Given the description of an element on the screen output the (x, y) to click on. 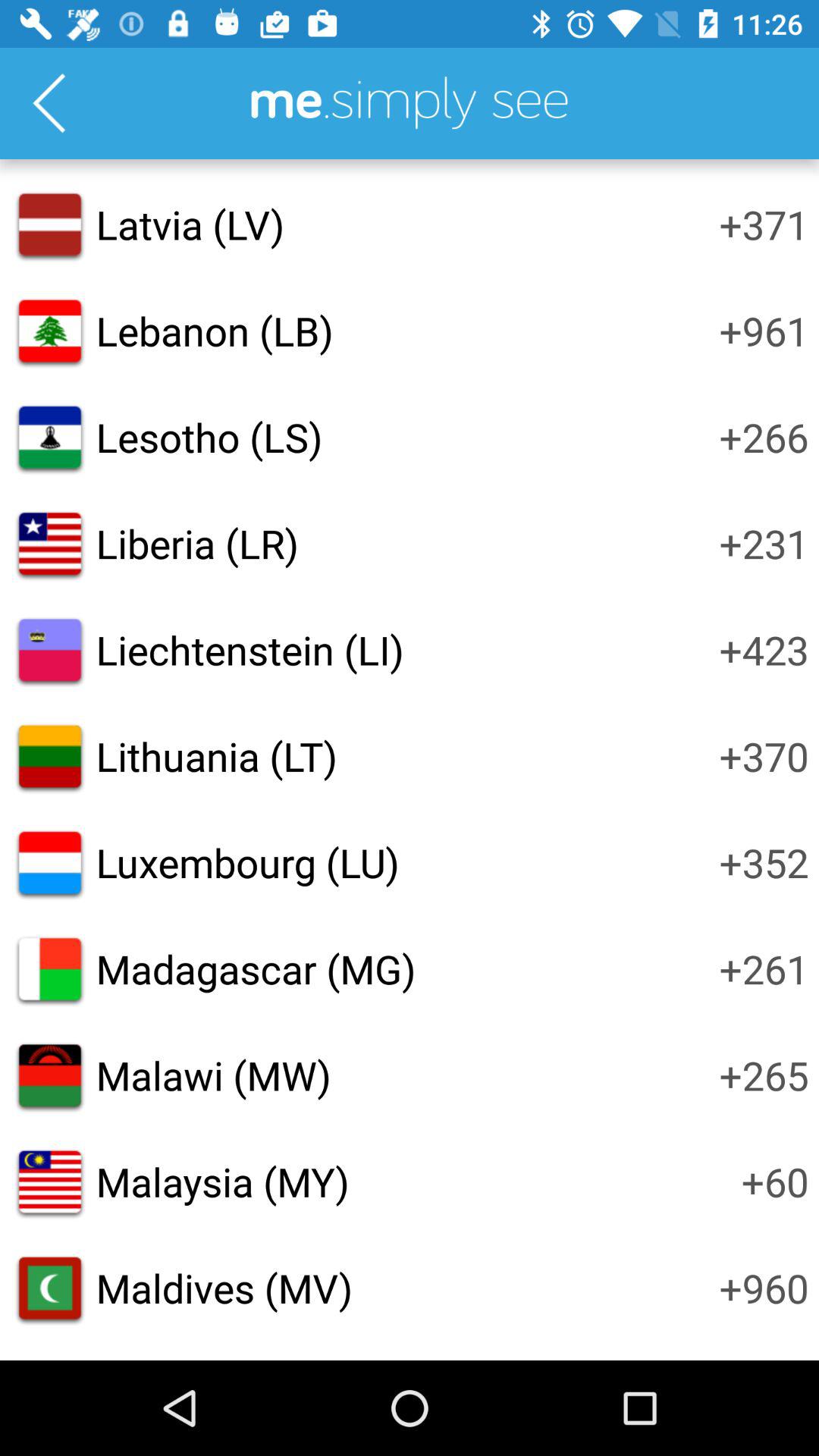
press the liberia (lr) (197, 542)
